Given the description of an element on the screen output the (x, y) to click on. 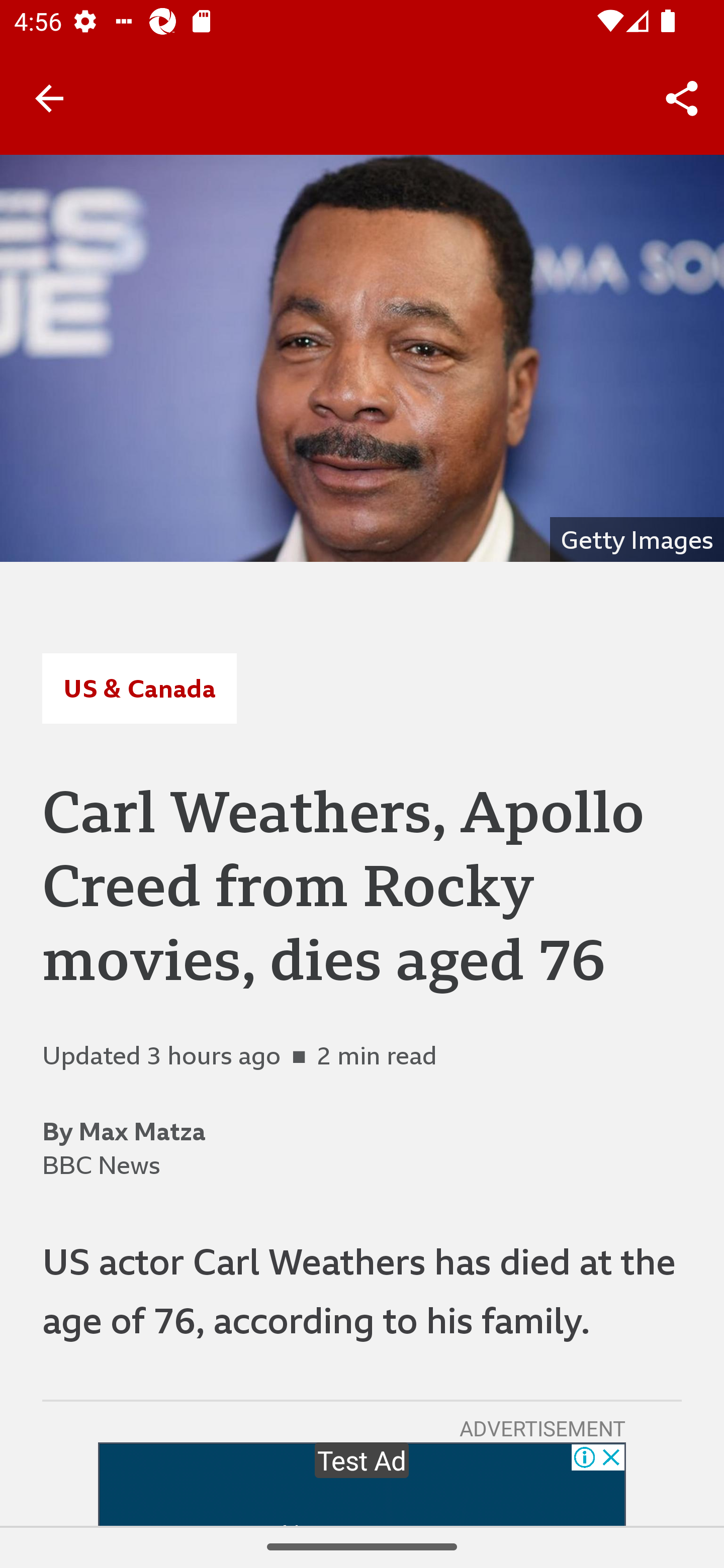
Back (49, 97)
Share (681, 98)
Carl Weathers (362, 358)
US & Canada (138, 688)
